Given the description of an element on the screen output the (x, y) to click on. 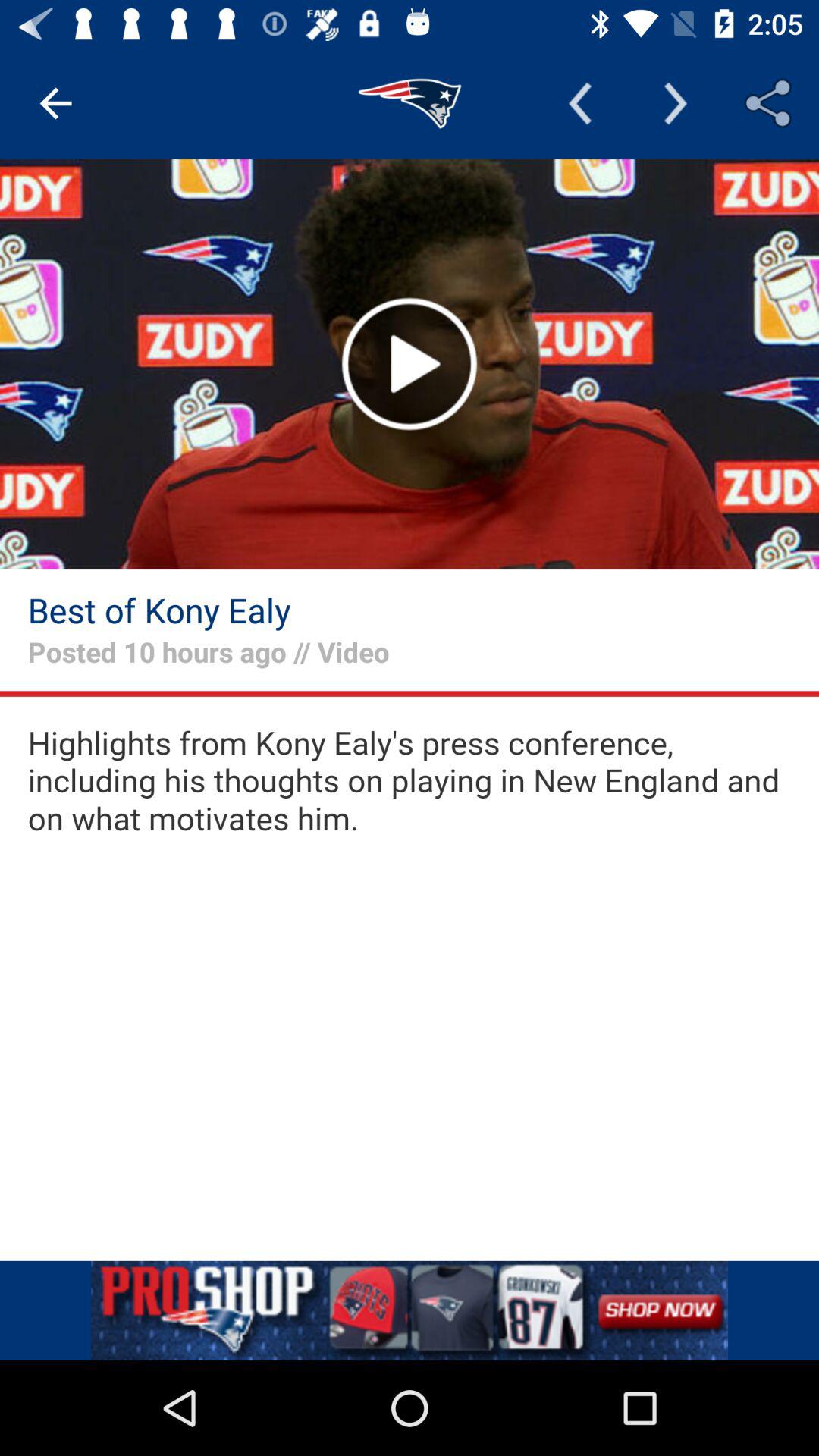
add the option (409, 1310)
